Given the description of an element on the screen output the (x, y) to click on. 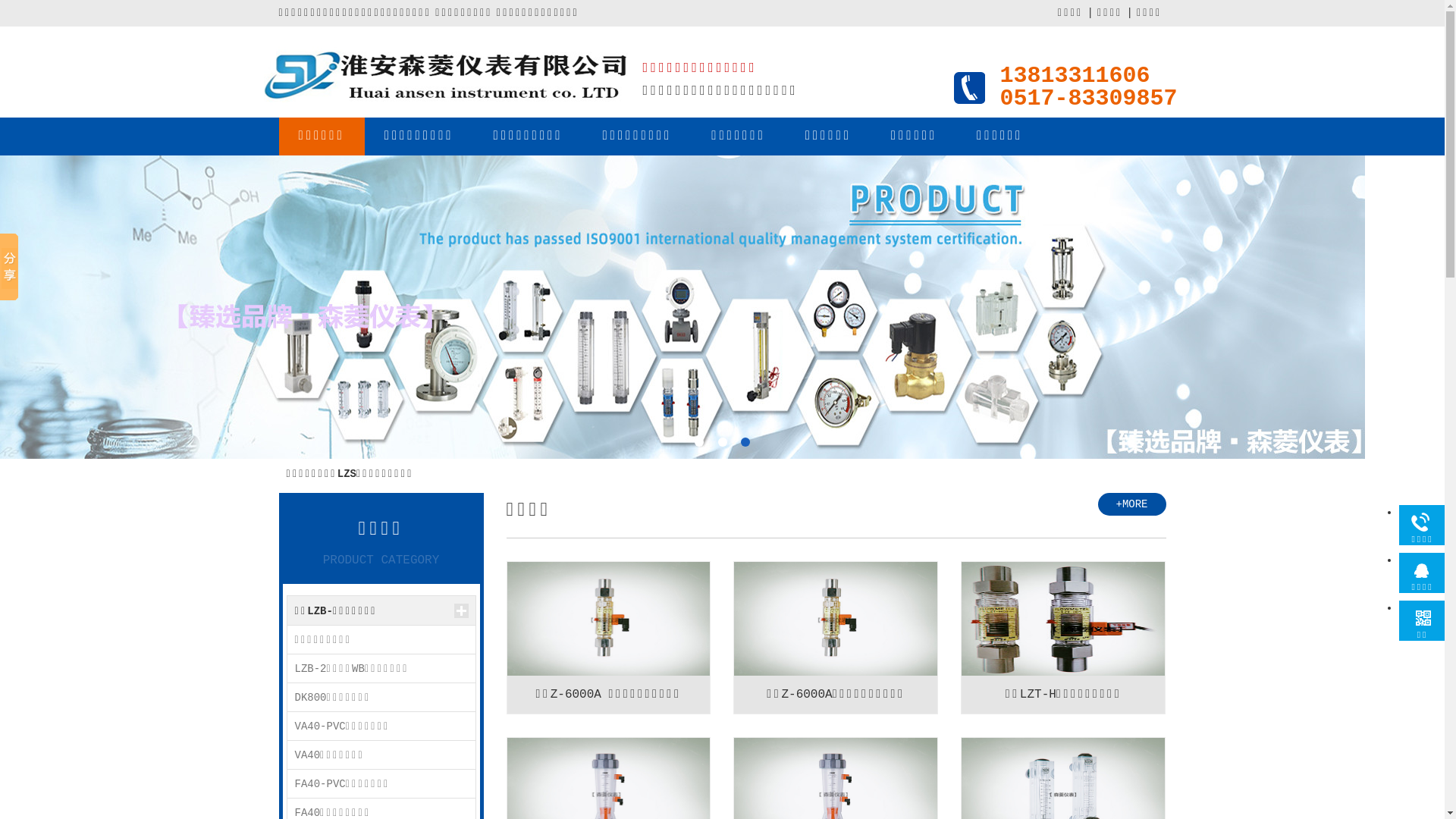
+MORE Element type: text (1132, 503)
